Given the description of an element on the screen output the (x, y) to click on. 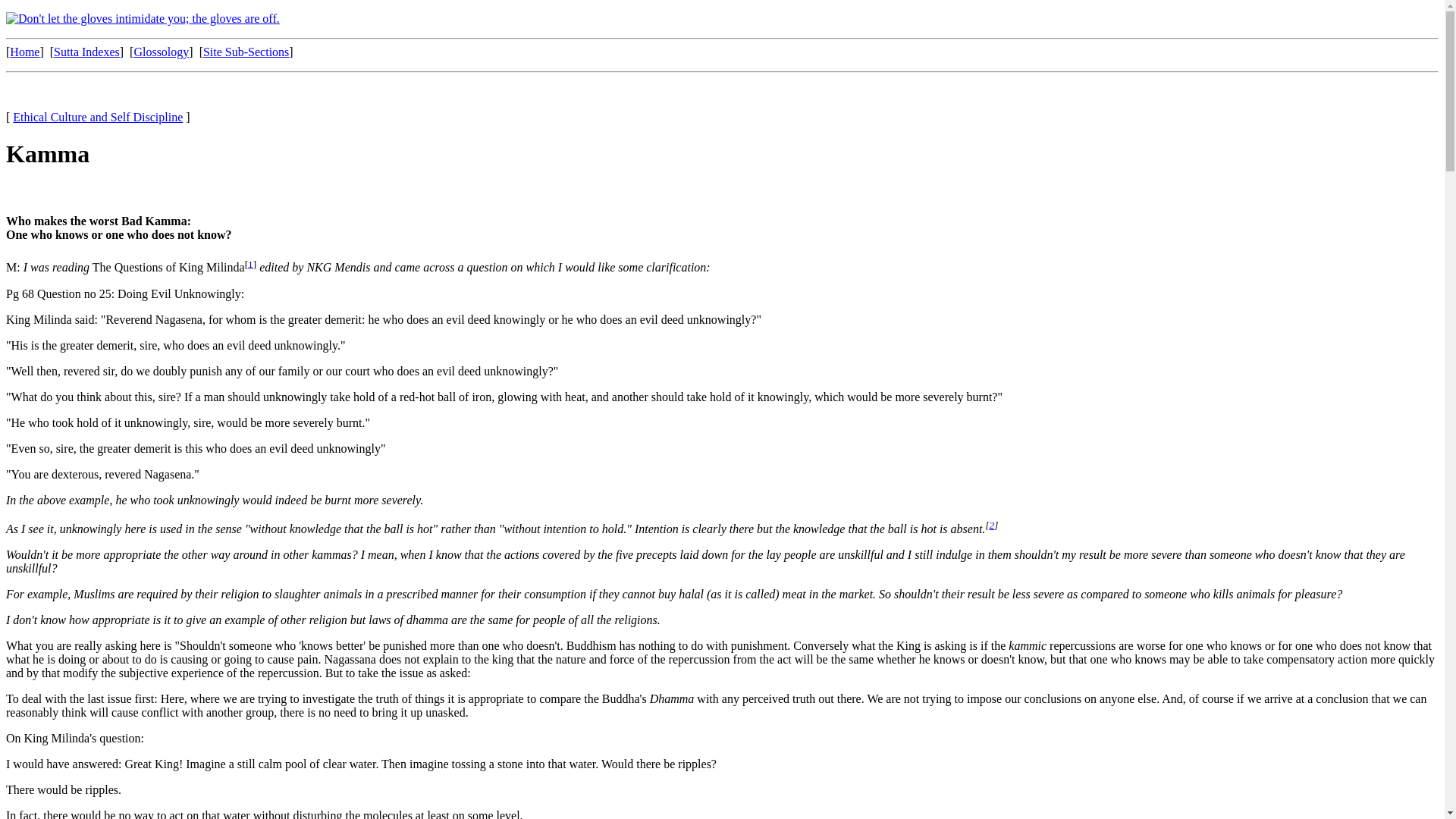
Glossology (161, 51)
1 (250, 263)
Home (24, 51)
Bad Kamma: (155, 220)
Site Sub-Sections (245, 51)
2 (992, 524)
Ethical Culture and Self Discipline (98, 116)
Sutta Indexes (86, 51)
